Given the description of an element on the screen output the (x, y) to click on. 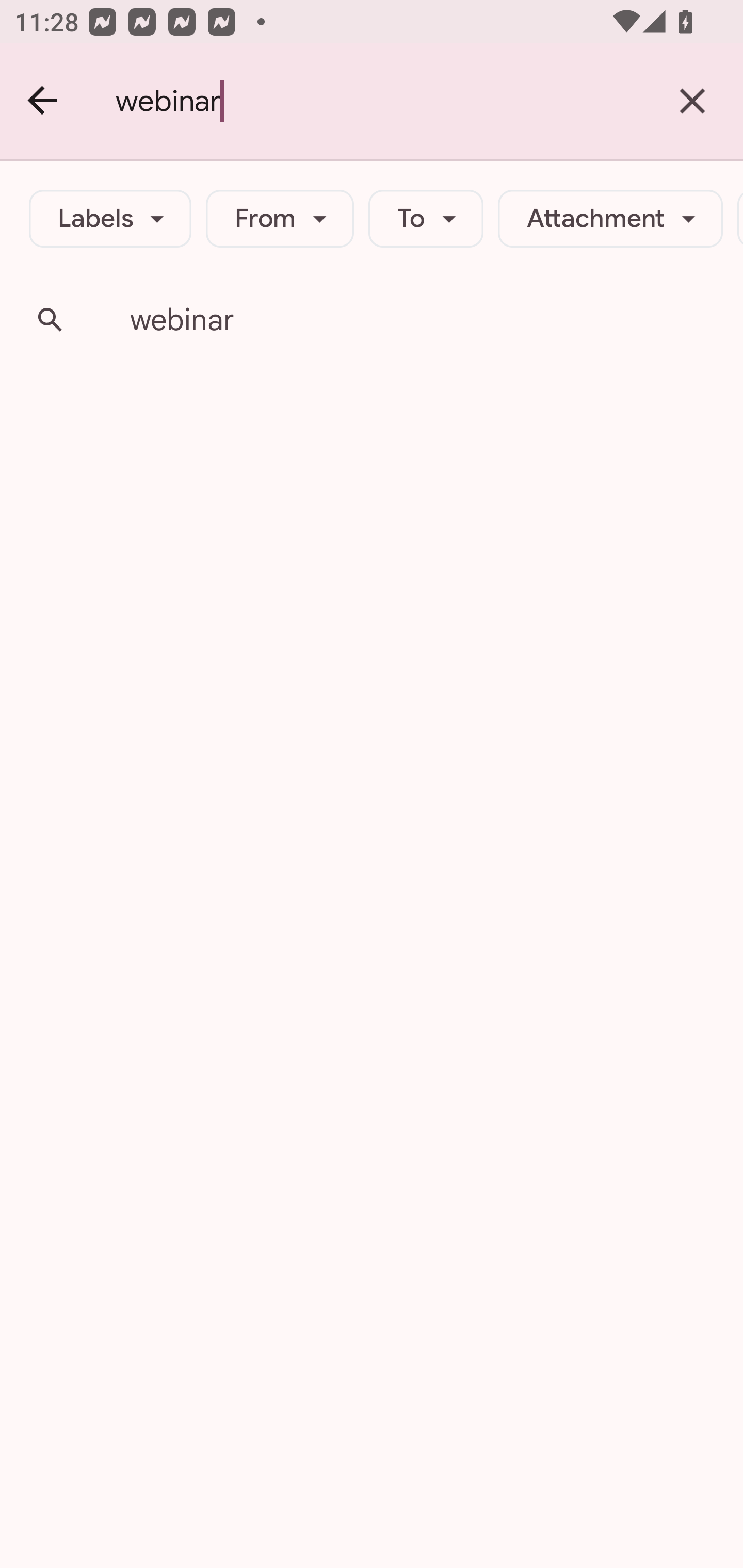
Back (43, 101)
webinar (378, 101)
Clear text (692, 101)
Labels (109, 218)
From (279, 218)
To (425, 218)
Attachment (609, 218)
webinar Suggestion: webinar (371, 319)
